Given the description of an element on the screen output the (x, y) to click on. 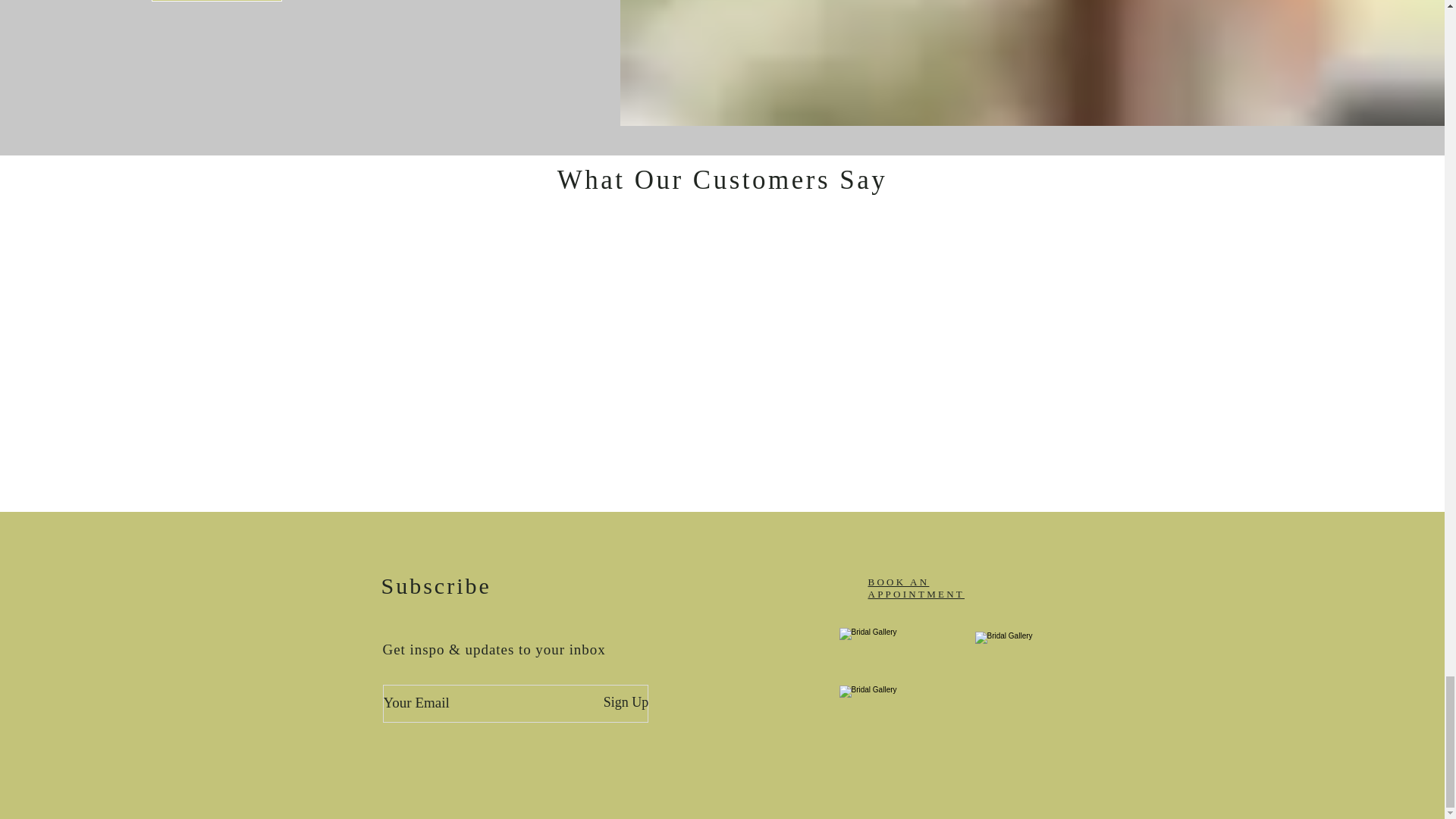
COMING SOON (216, 0)
BOOK AN APPOINTMENT (915, 587)
Sign Up (625, 702)
